Given the description of an element on the screen output the (x, y) to click on. 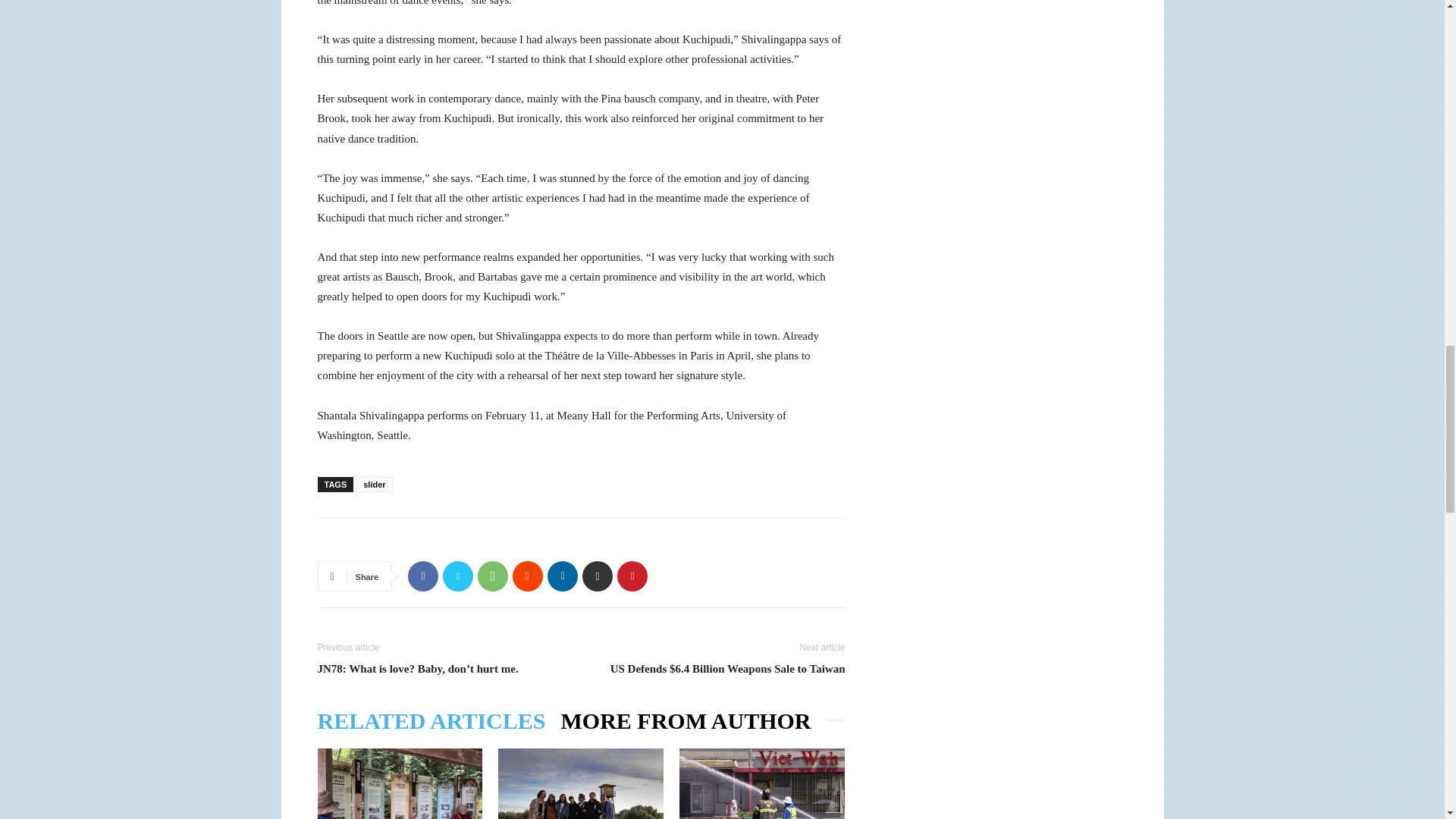
WhatsApp (492, 576)
Twitter (457, 576)
Facebook (422, 576)
